Given the description of an element on the screen output the (x, y) to click on. 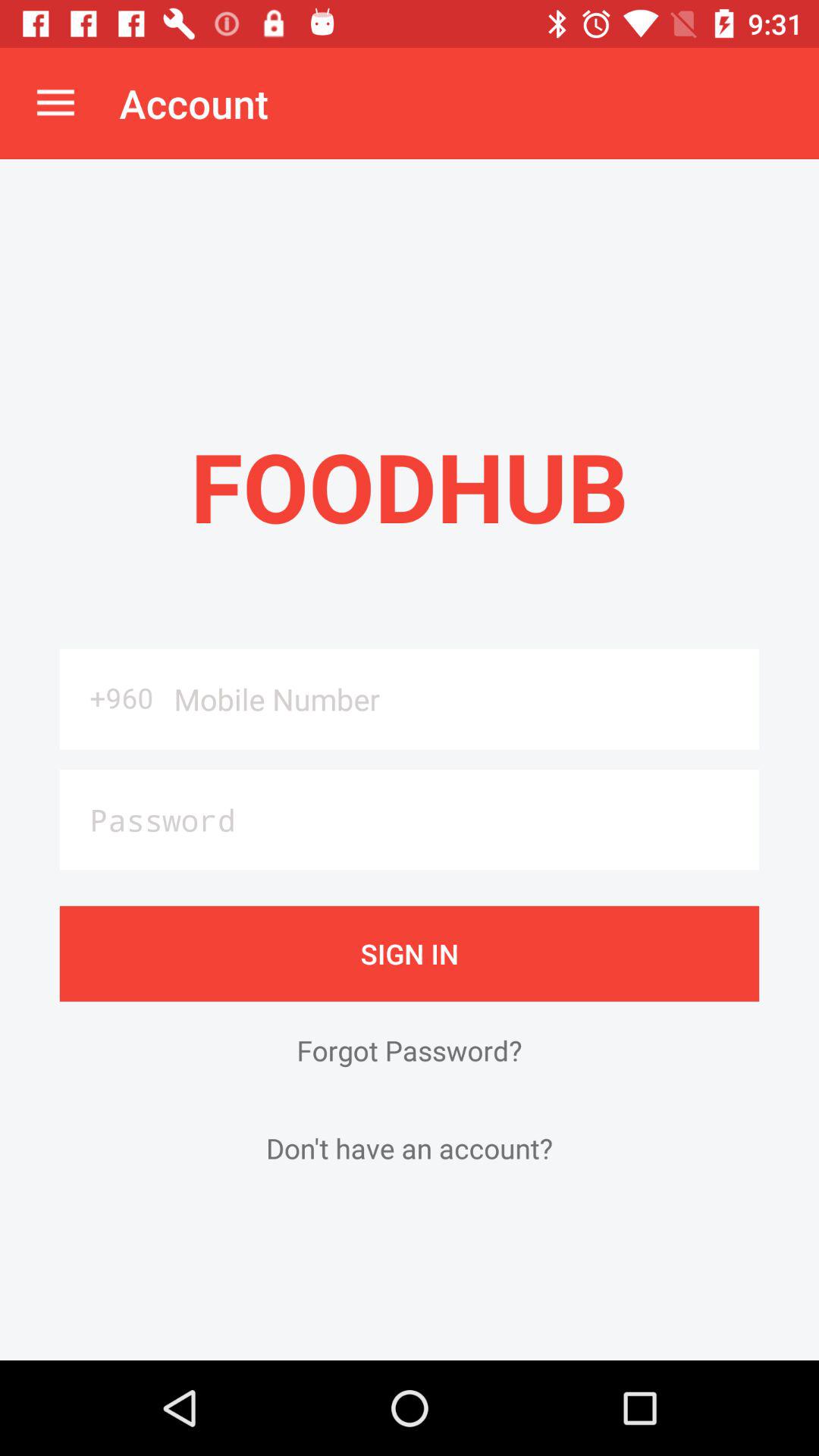
password input (409, 819)
